Given the description of an element on the screen output the (x, y) to click on. 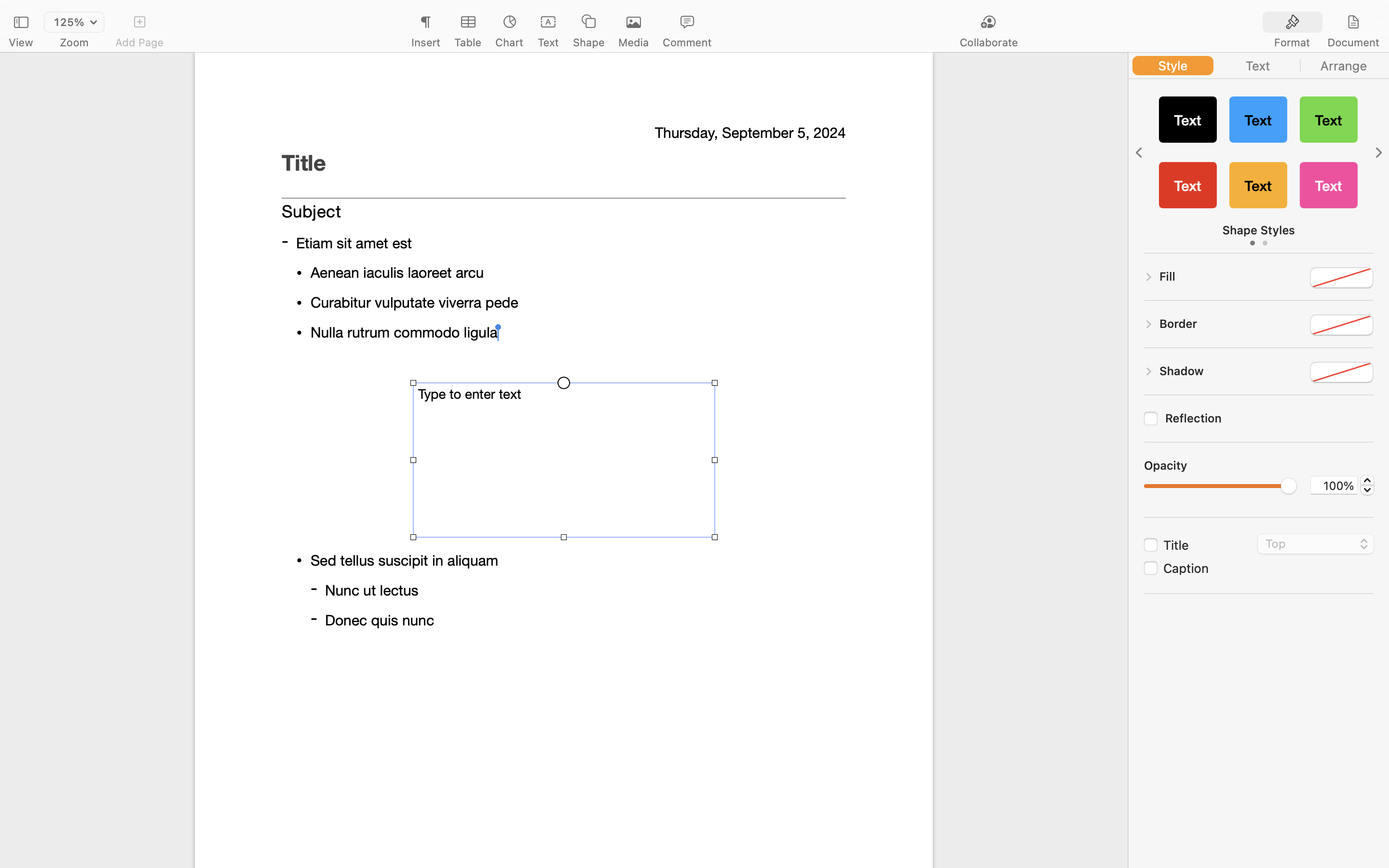
Top Element type: AXPopUpButton (1315, 545)
<AXUIElement 0x1717b0da0> {pid=1482} Element type: AXRadioGroup (1258, 65)
1.0 Element type: AXSlider (1220, 485)
Untitled Element type: AXStaticText (667, 12)
Zoom Element type: AXStaticText (73, 42)
